Given the description of an element on the screen output the (x, y) to click on. 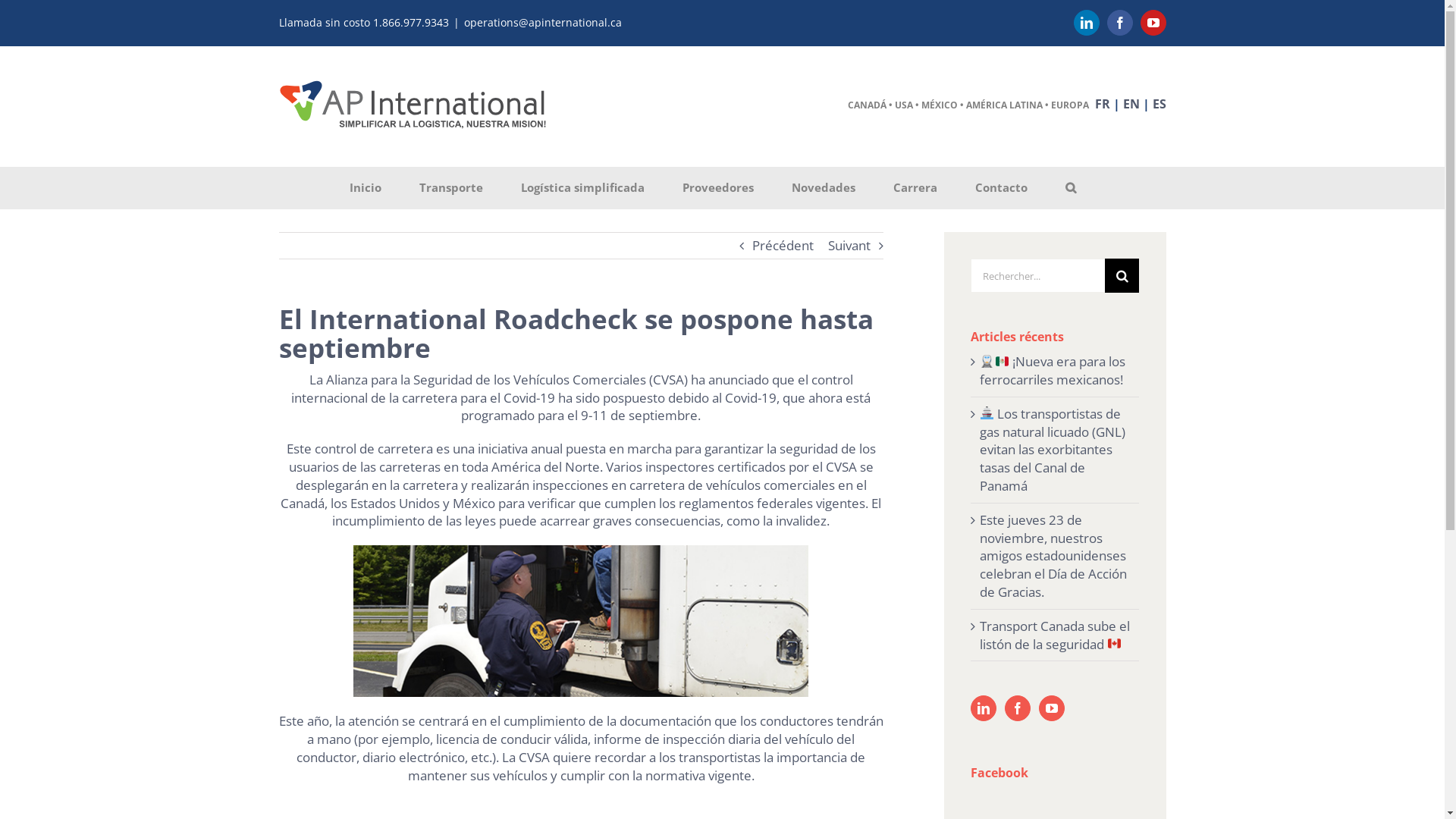
Contacto Element type: text (1001, 187)
Novedades Element type: text (823, 187)
operations@apinternational.ca Element type: text (542, 22)
LinkedIn Element type: text (1086, 22)
Suivant Element type: text (849, 245)
YouTube Element type: text (1153, 22)
Recherche Element type: hover (1070, 187)
Transporte Element type: text (450, 187)
FR Element type: text (1102, 103)
Carrera Element type: text (915, 187)
EN Element type: text (1130, 103)
Inicio Element type: text (364, 187)
Proveedores Element type: text (718, 187)
Facebook Element type: text (1119, 22)
ES Element type: text (1159, 103)
